Given the description of an element on the screen output the (x, y) to click on. 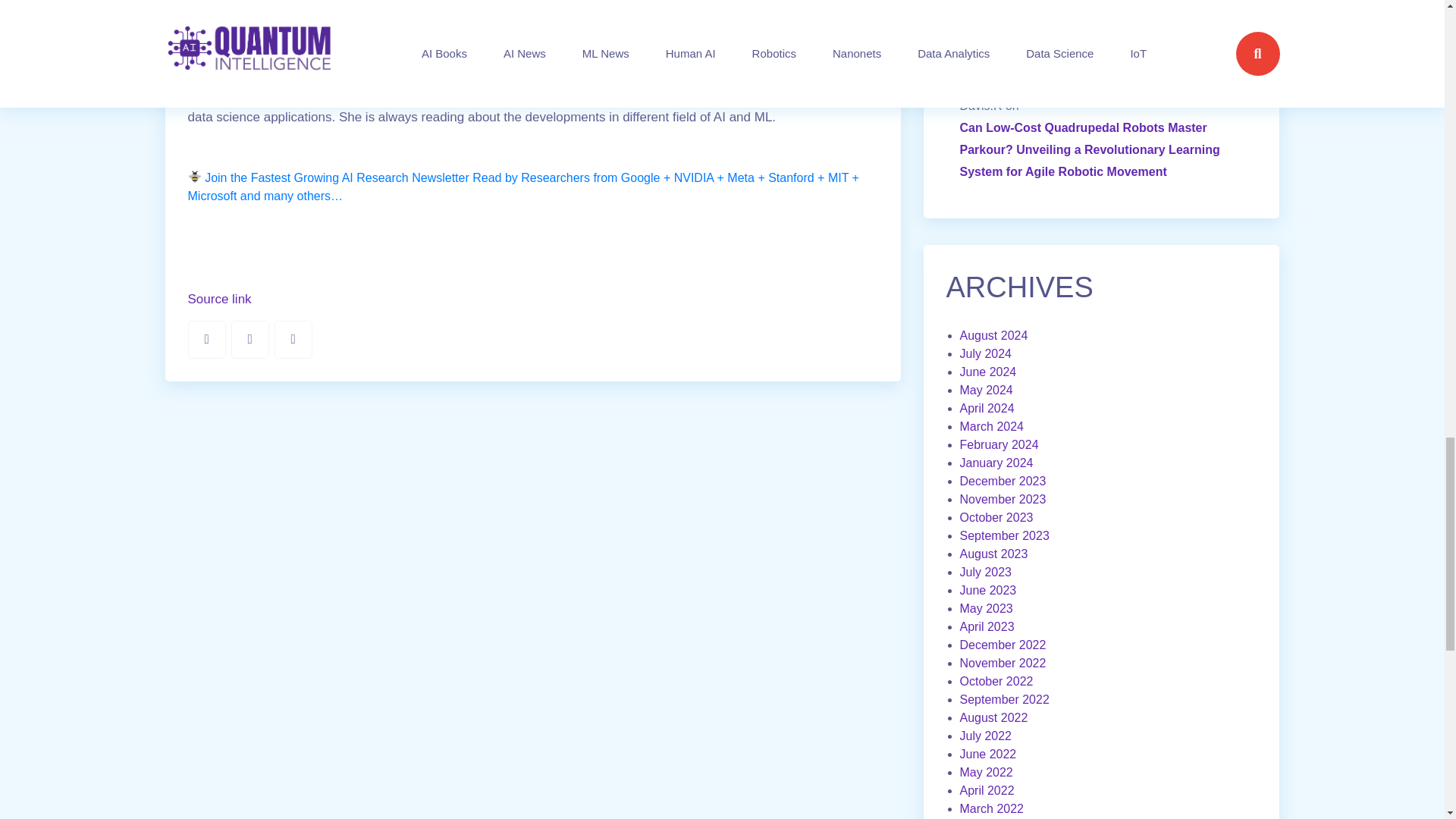
Source link (219, 299)
